Given the description of an element on the screen output the (x, y) to click on. 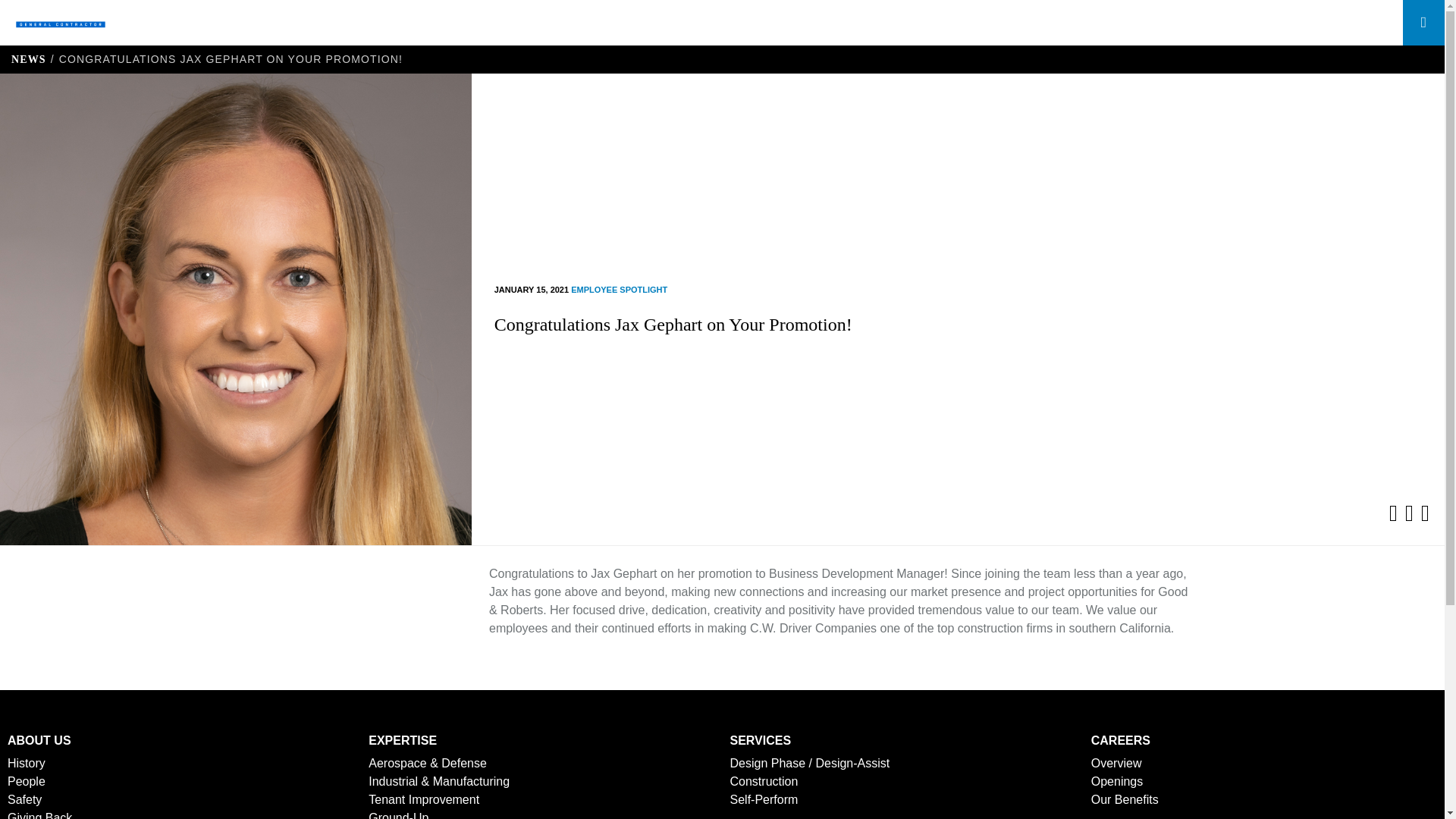
Our Benefits (1124, 799)
Giving Back (39, 815)
Self-Perform (763, 799)
Tenant Improvement (423, 799)
Safety (24, 799)
Congratulations Jax Gephart on Your Promotion! (673, 324)
NEWS (28, 59)
Overview (1115, 762)
History (26, 762)
EMPLOYEE SPOTLIGHT (618, 289)
Construction (763, 780)
Ground-Up (398, 815)
People (26, 780)
Openings (1116, 780)
